Given the description of an element on the screen output the (x, y) to click on. 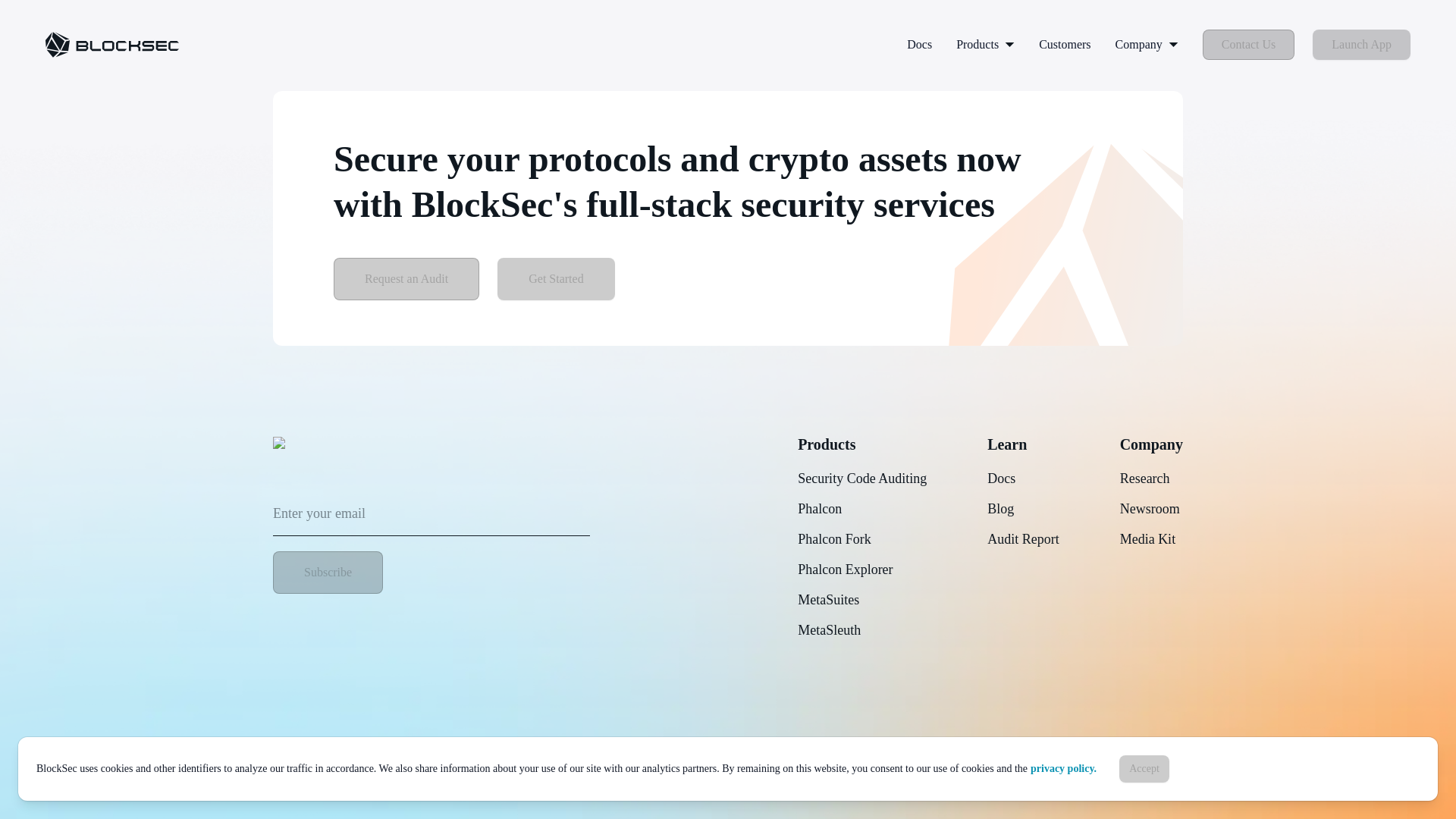
Request an Audit (406, 278)
